Given the description of an element on the screen output the (x, y) to click on. 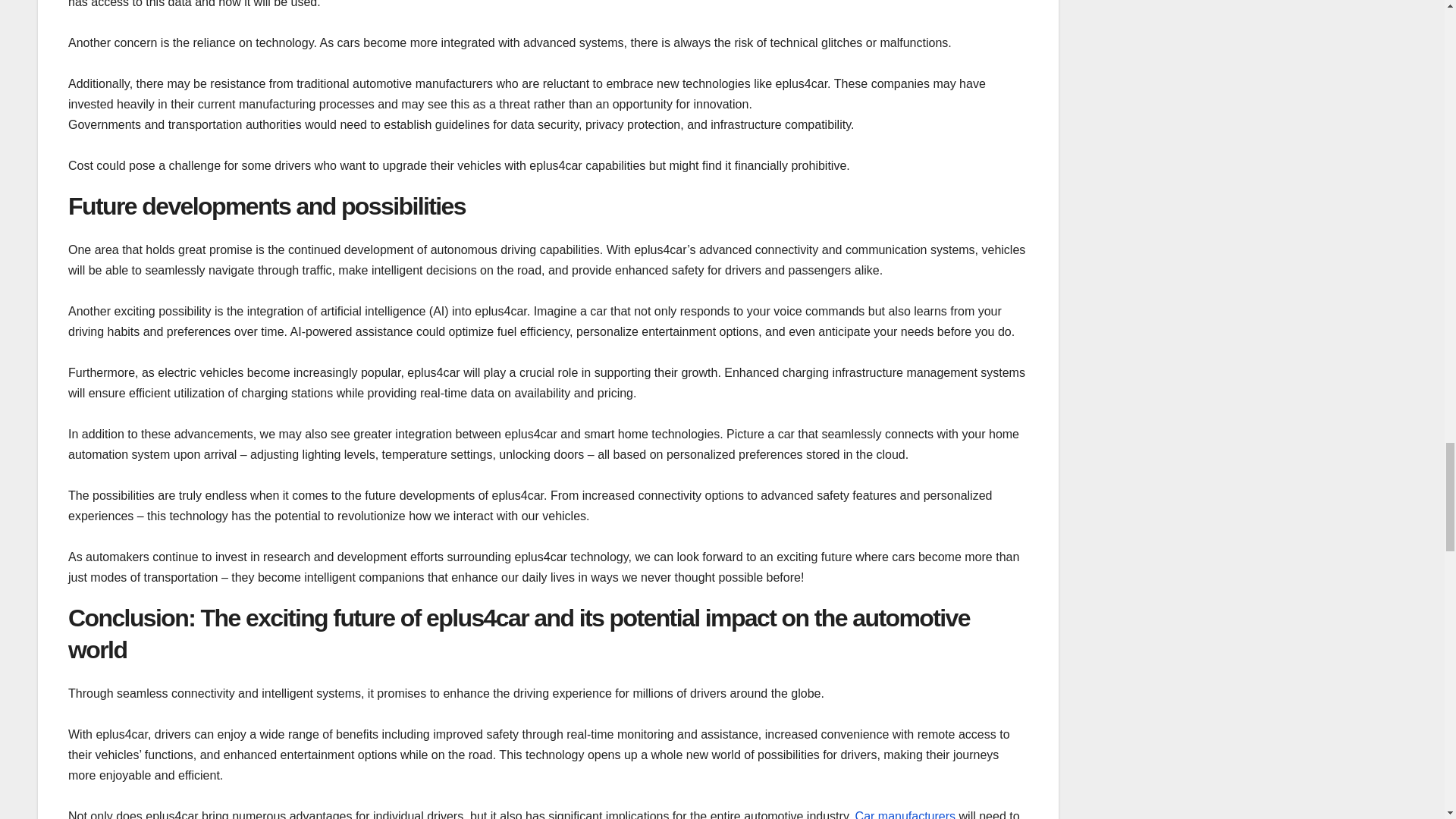
Car manufacturers (906, 814)
